Given the description of an element on the screen output the (x, y) to click on. 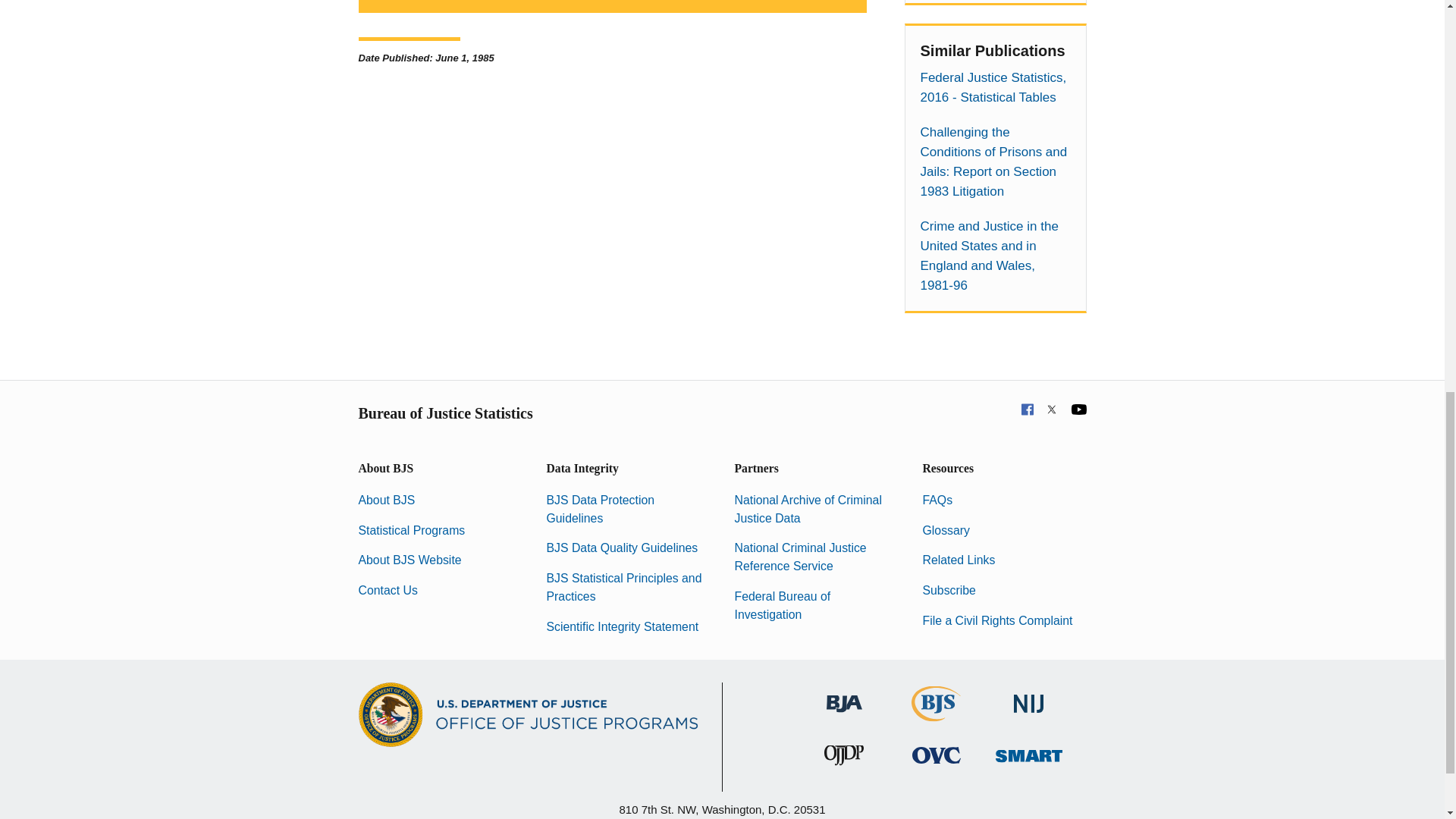
Federal Justice Statistics, 2016 - Statistical Tables (995, 87)
Additional Details (612, 6)
